Given the description of an element on the screen output the (x, y) to click on. 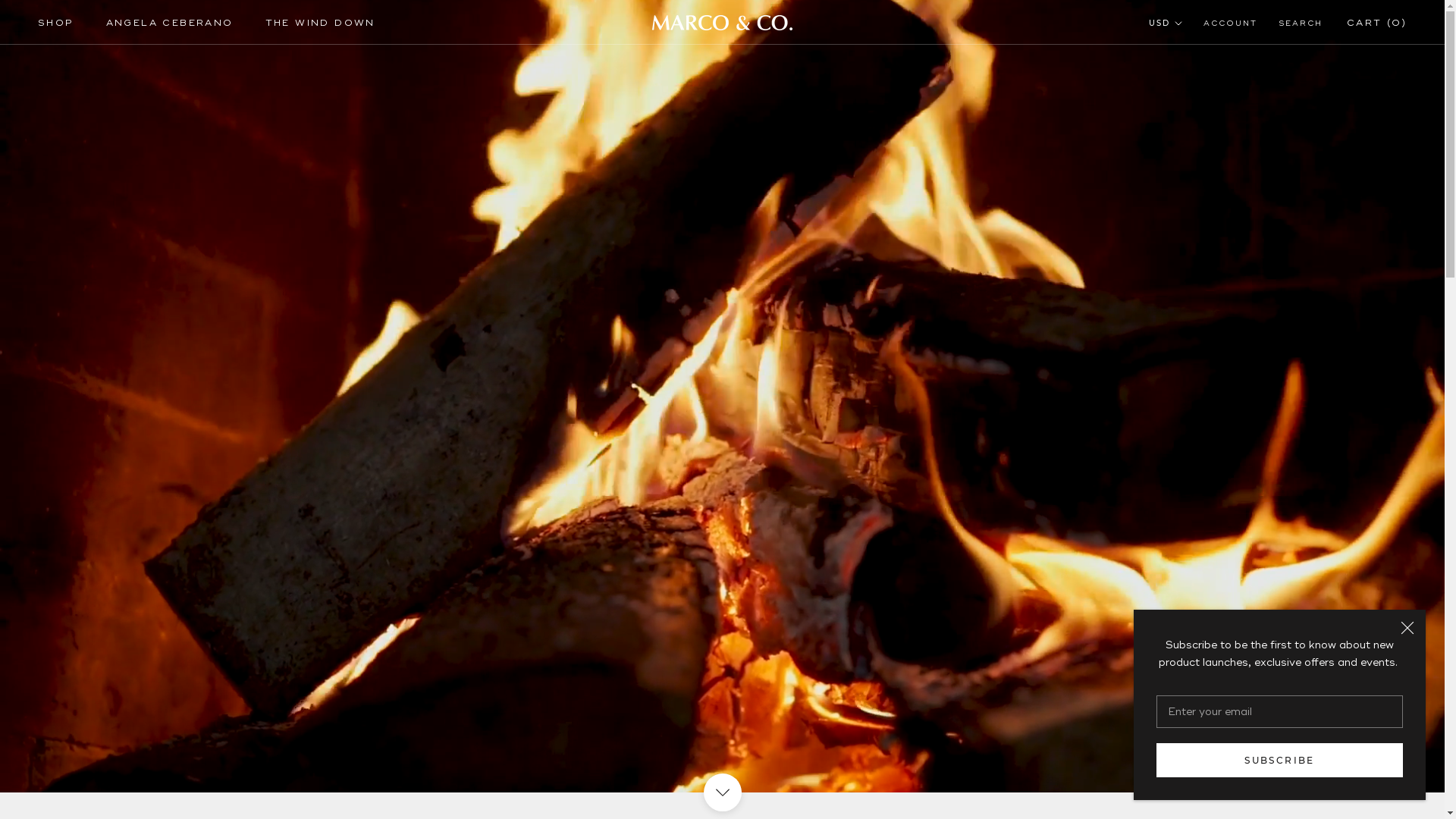
ANGELA CEBERANO
ANGELA CEBERANO Element type: text (169, 22)
SEARCH Element type: text (1300, 23)
SHOP
SHOP Element type: text (55, 22)
SUBSCRIBE Element type: text (1279, 778)
CART (0) Element type: text (1376, 22)
ACCOUNT Element type: text (1230, 23)
THE WIND DOWN
THE WIND DOWN Element type: text (320, 22)
